Given the description of an element on the screen output the (x, y) to click on. 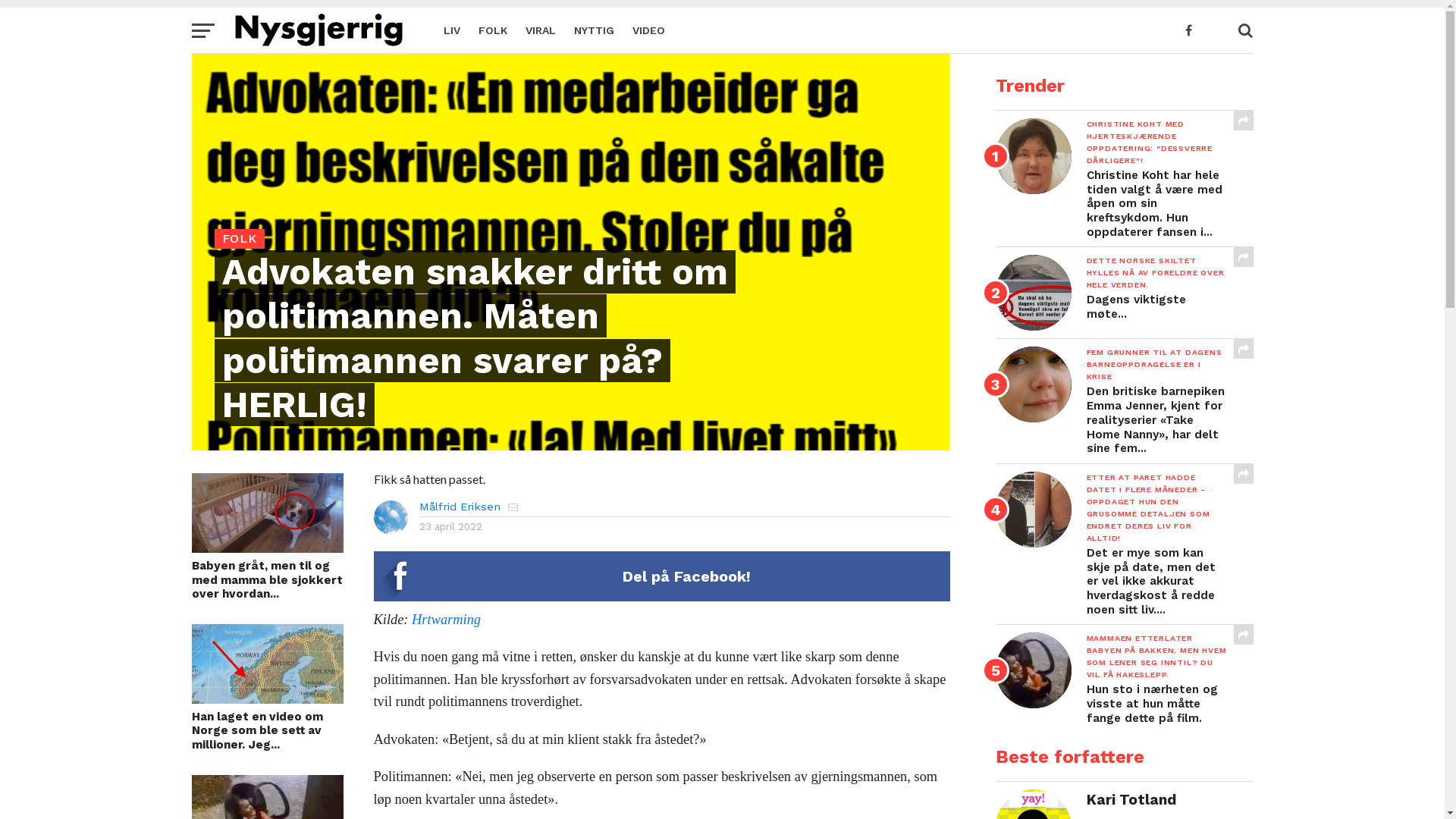
VIRAL Element type: text (539, 30)
NYTTIG Element type: text (593, 30)
Hrtwarming Element type: text (445, 619)
FOLK Element type: text (491, 30)
LIV Element type: text (450, 30)
VIDEO Element type: text (648, 30)
